Given the description of an element on the screen output the (x, y) to click on. 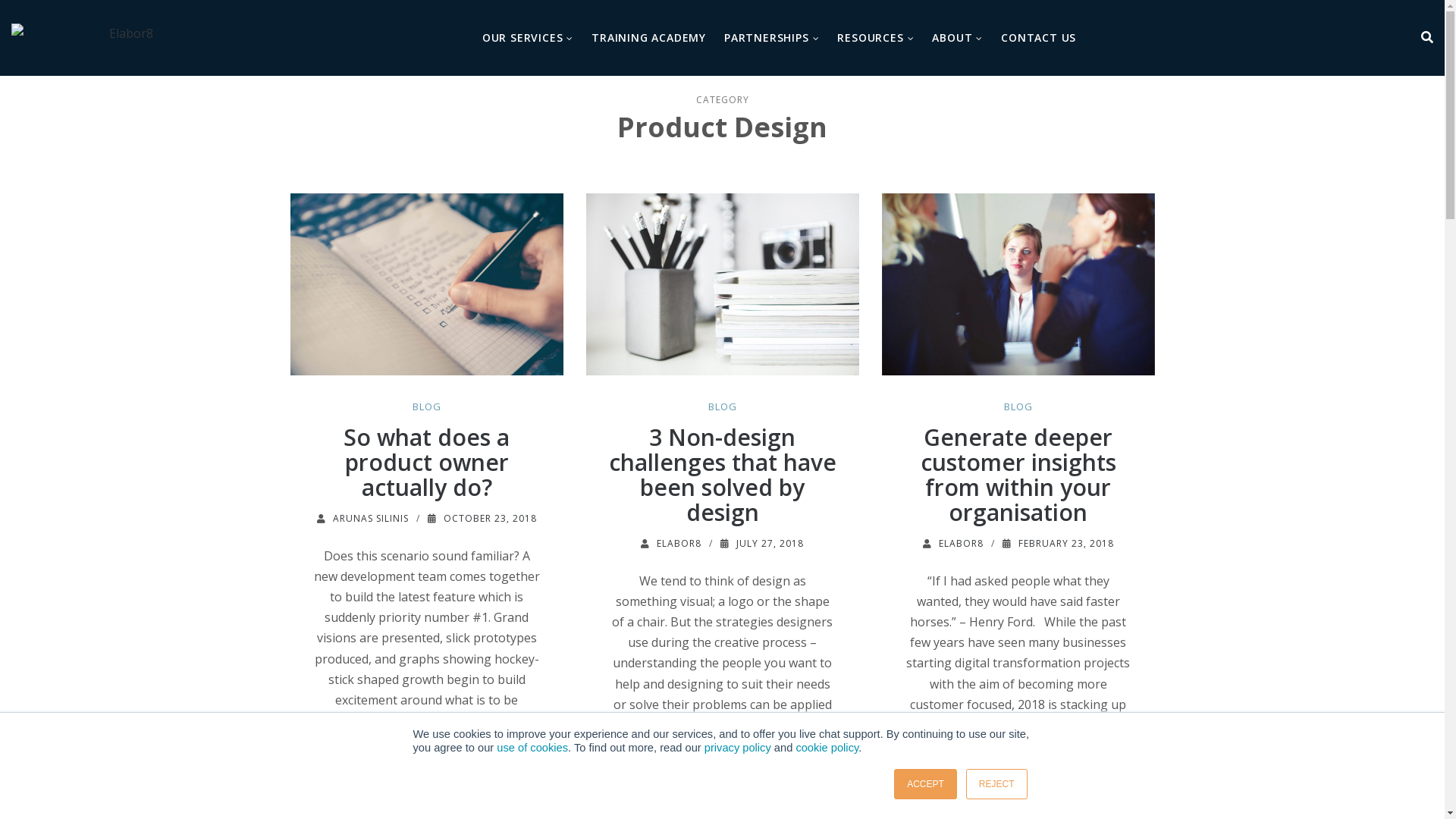
So what does a product owner actually do? Element type: text (426, 461)
ARUNAS SILINIS Element type: text (369, 517)
FEBRUARY 23, 2018 Element type: text (1065, 542)
BLOG Element type: text (426, 406)
ABOUT Element type: text (956, 37)
OCTOBER 23, 2018 Element type: text (489, 517)
TRAINING ACADEMY Element type: text (648, 37)
BLOG Element type: text (1018, 406)
OUR SERVICES Element type: text (527, 37)
BLOG Element type: text (722, 406)
REJECT Element type: text (996, 783)
CONTACT US Element type: text (1038, 37)
cookie policy Element type: text (826, 747)
privacy policy Element type: text (737, 747)
ACCEPT Element type: text (925, 783)
use of cookies Element type: text (531, 747)
JULY 27, 2018 Element type: text (769, 542)
ELABOR8 Element type: text (960, 542)
RESOURCES Element type: text (875, 37)
3 Non-design challenges that have been solved by design Element type: text (721, 474)
PARTNERSHIPS Element type: text (771, 37)
ELABOR8 Element type: text (678, 542)
